Given the description of an element on the screen output the (x, y) to click on. 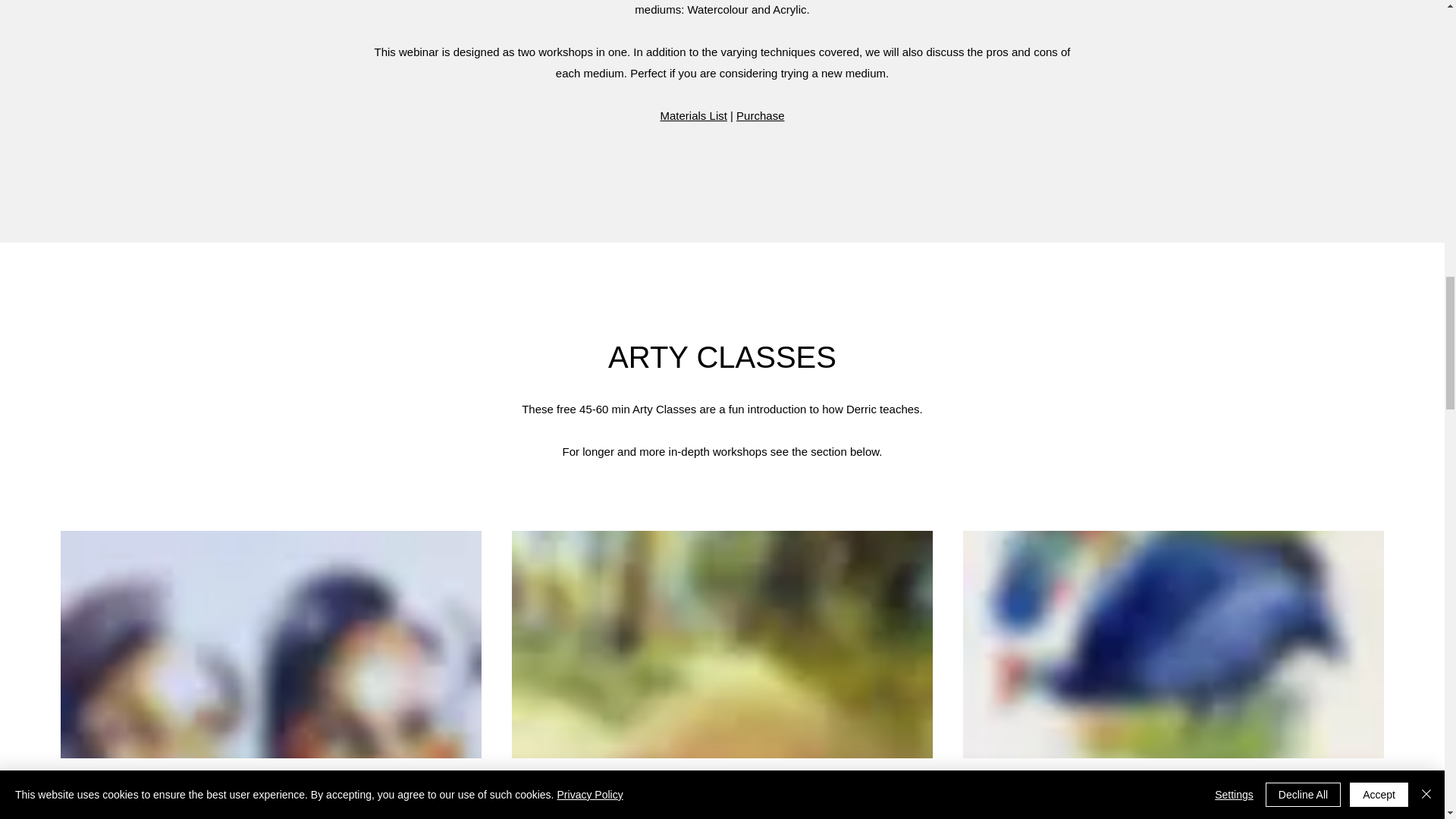
Purchase (760, 115)
Materials List (693, 115)
EXPLORING A FORESTS ATMOSPHERE AND LIGHT (722, 811)
PORTRAIT STUDY: WATERCOLOUR VS ACRYLIC (270, 811)
